Given the description of an element on the screen output the (x, y) to click on. 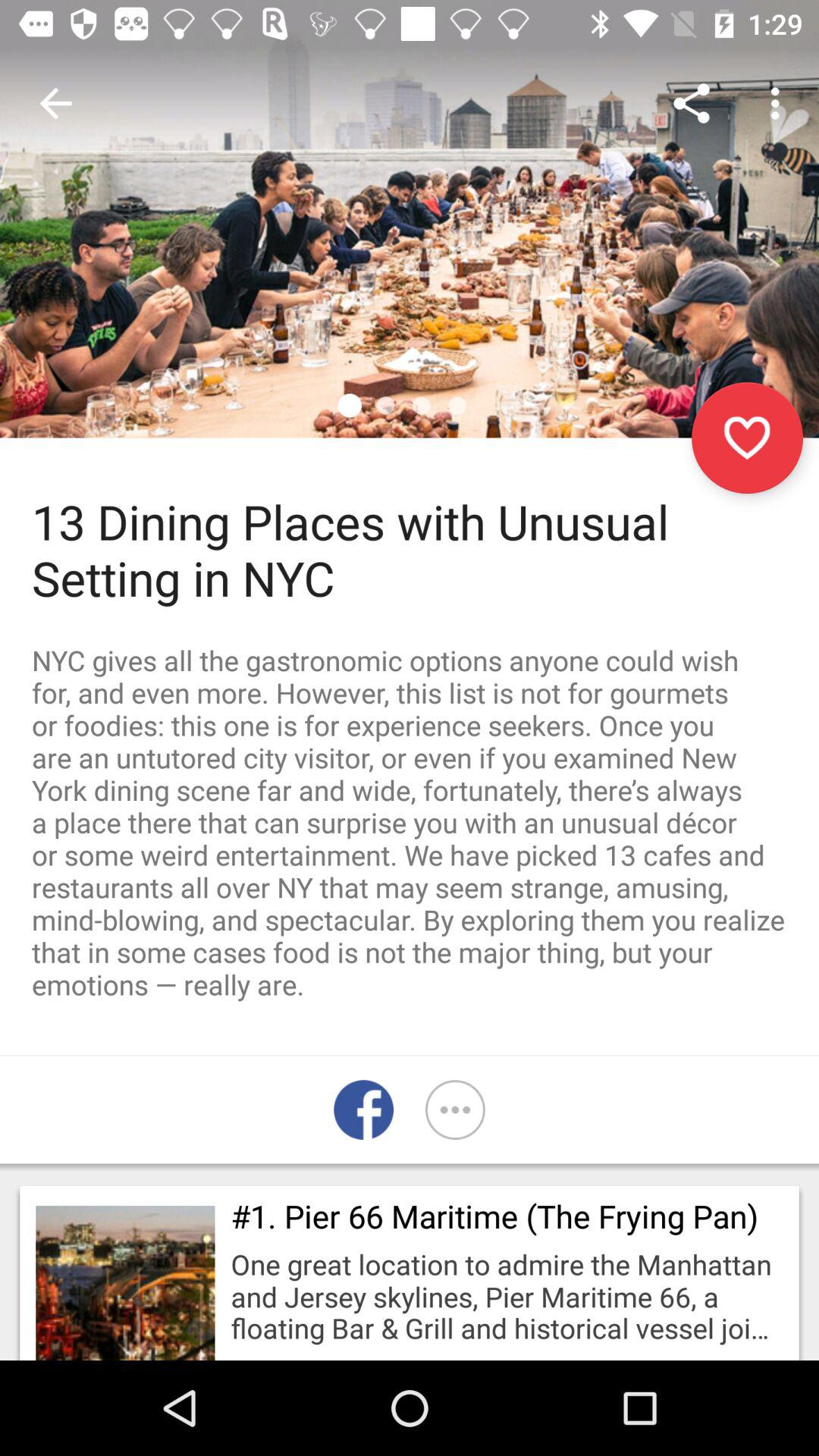
choose nyc gives all (409, 822)
